Given the description of an element on the screen output the (x, y) to click on. 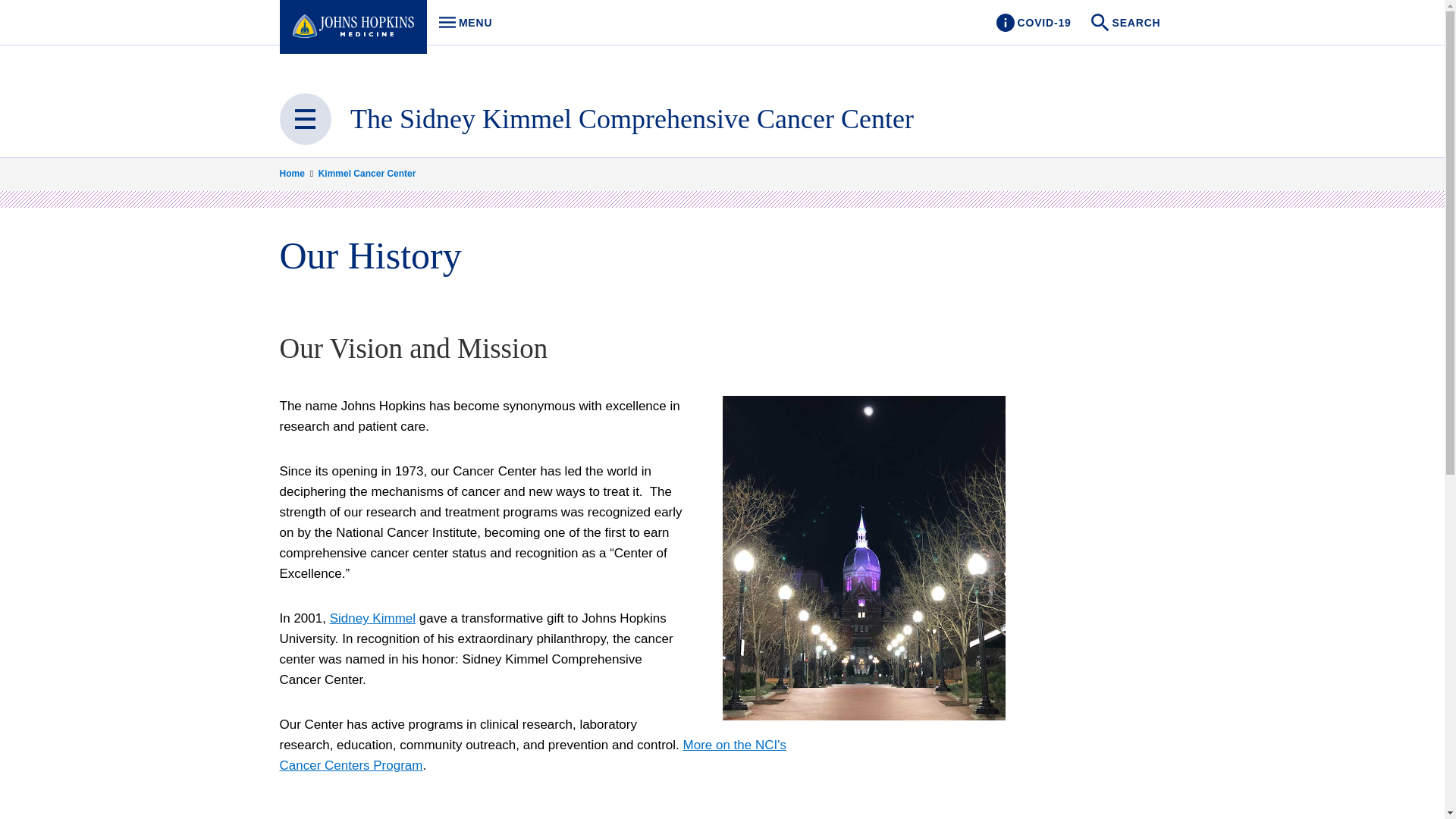
COVID-19 (1033, 22)
SEARCH (1126, 22)
Close Main Menu (304, 118)
The Sidney Kimmel Comprehensive Cancer Center (632, 119)
